Given the description of an element on the screen output the (x, y) to click on. 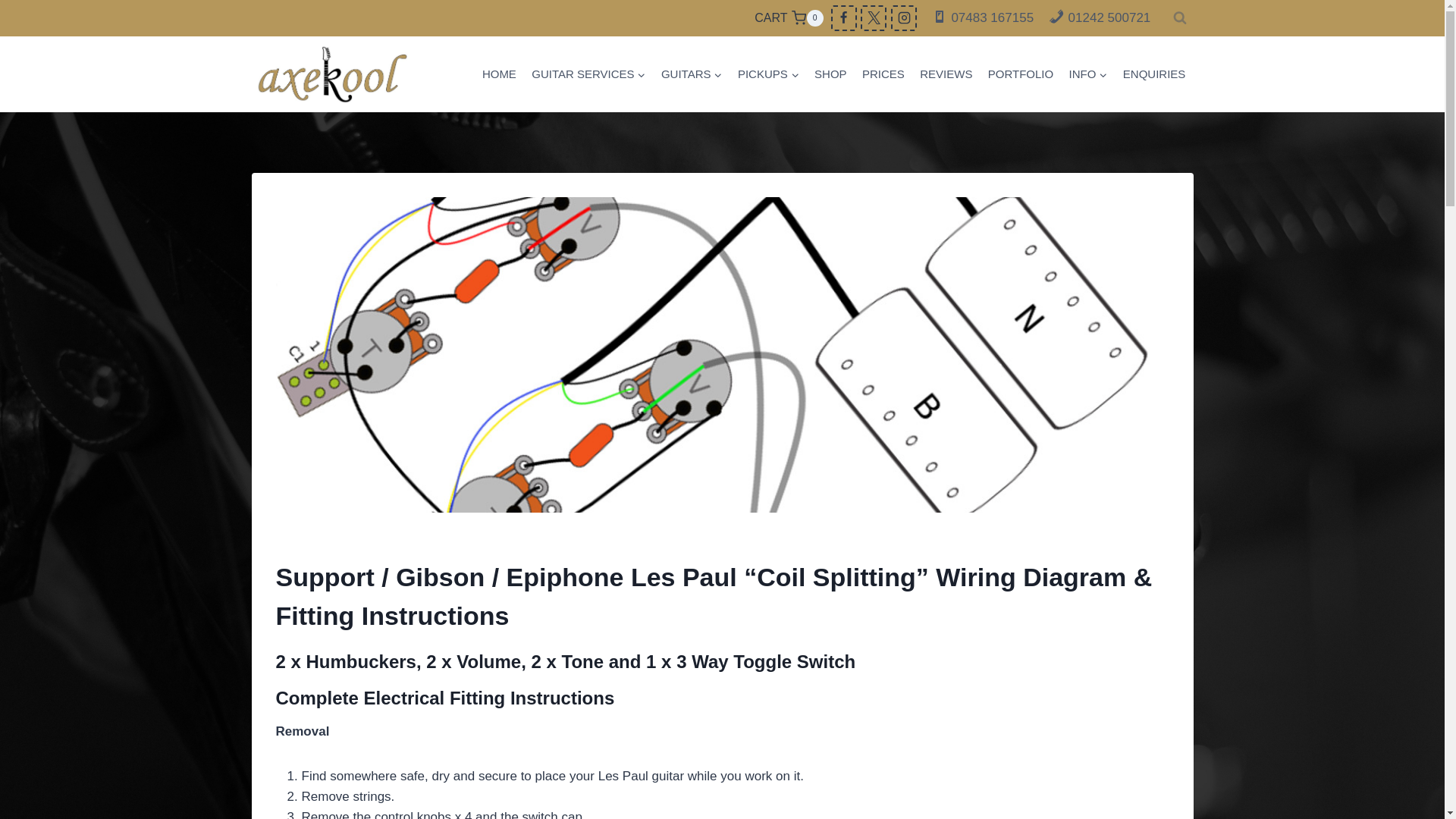
GUITARS (691, 73)
INFO (1088, 73)
REVIEWS (945, 73)
PRICES (883, 73)
HOME (788, 17)
07483 167155 (499, 73)
GUITAR SERVICES (982, 18)
PORTFOLIO (588, 73)
PICKUPS (1020, 73)
01242 500721 (768, 73)
SHOP (1099, 18)
